Given the description of an element on the screen output the (x, y) to click on. 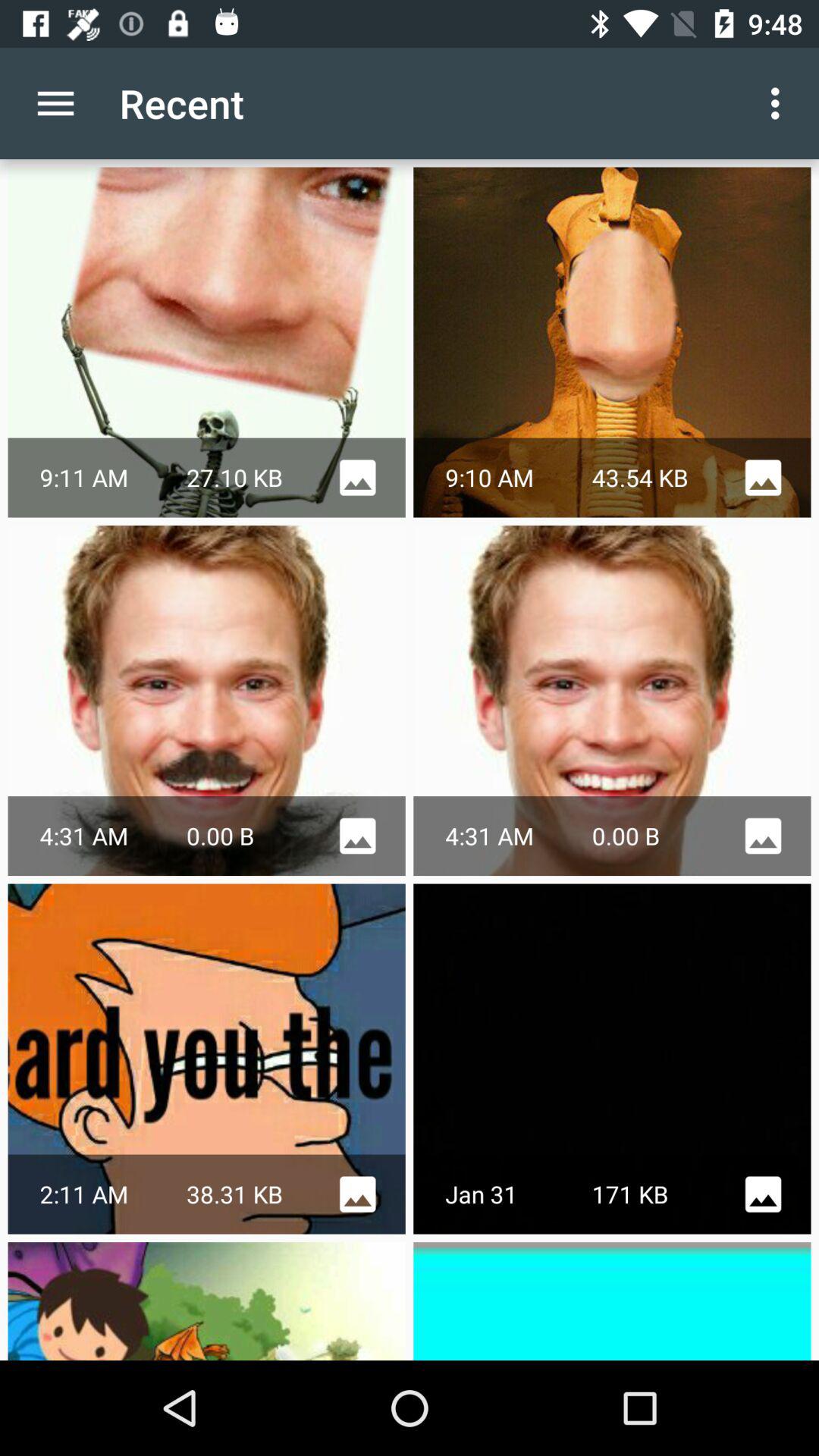
choose item next to recent app (779, 103)
